Given the description of an element on the screen output the (x, y) to click on. 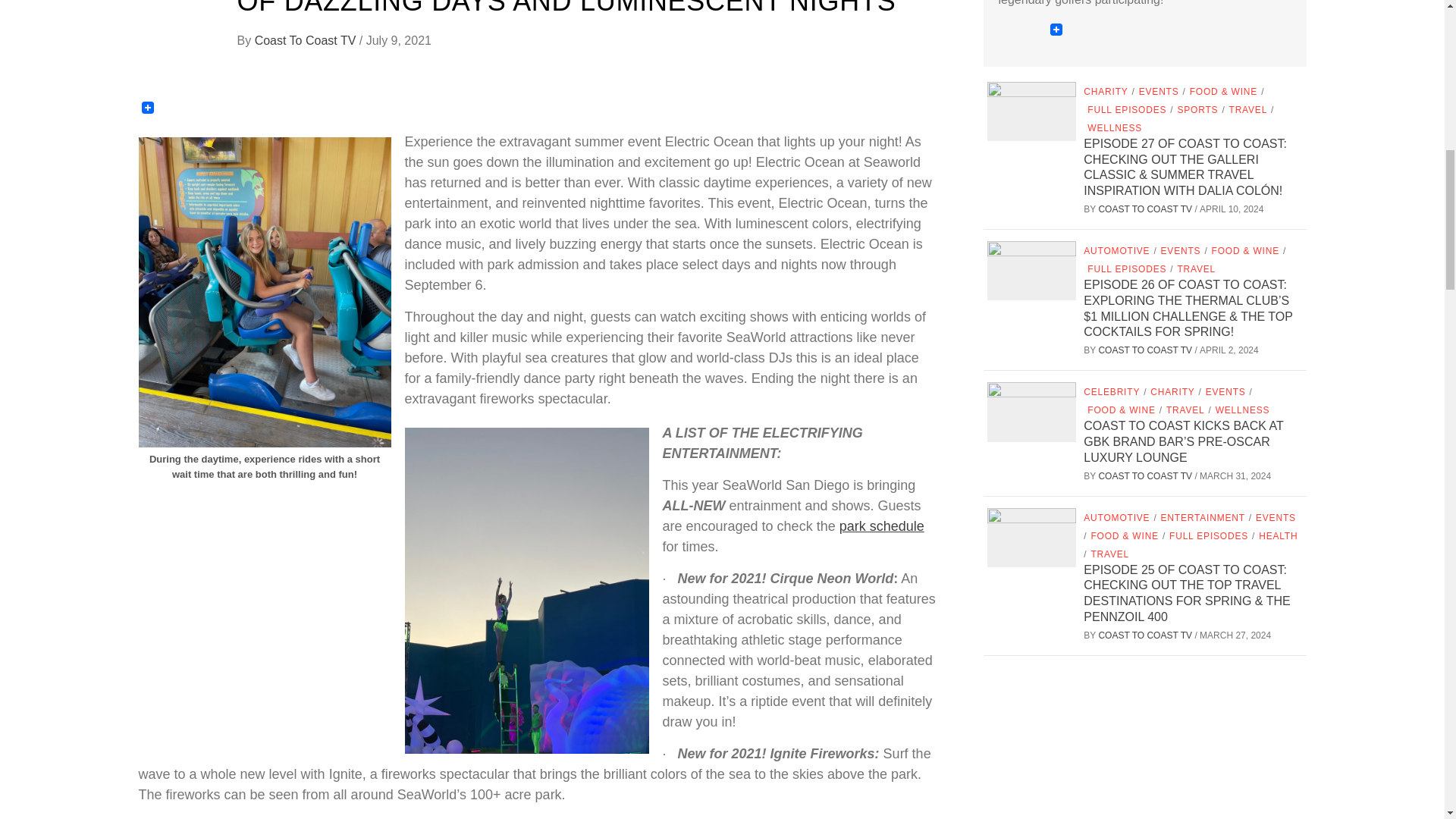
park schedule (882, 525)
Coast To Coast TV (306, 40)
